Given the description of an element on the screen output the (x, y) to click on. 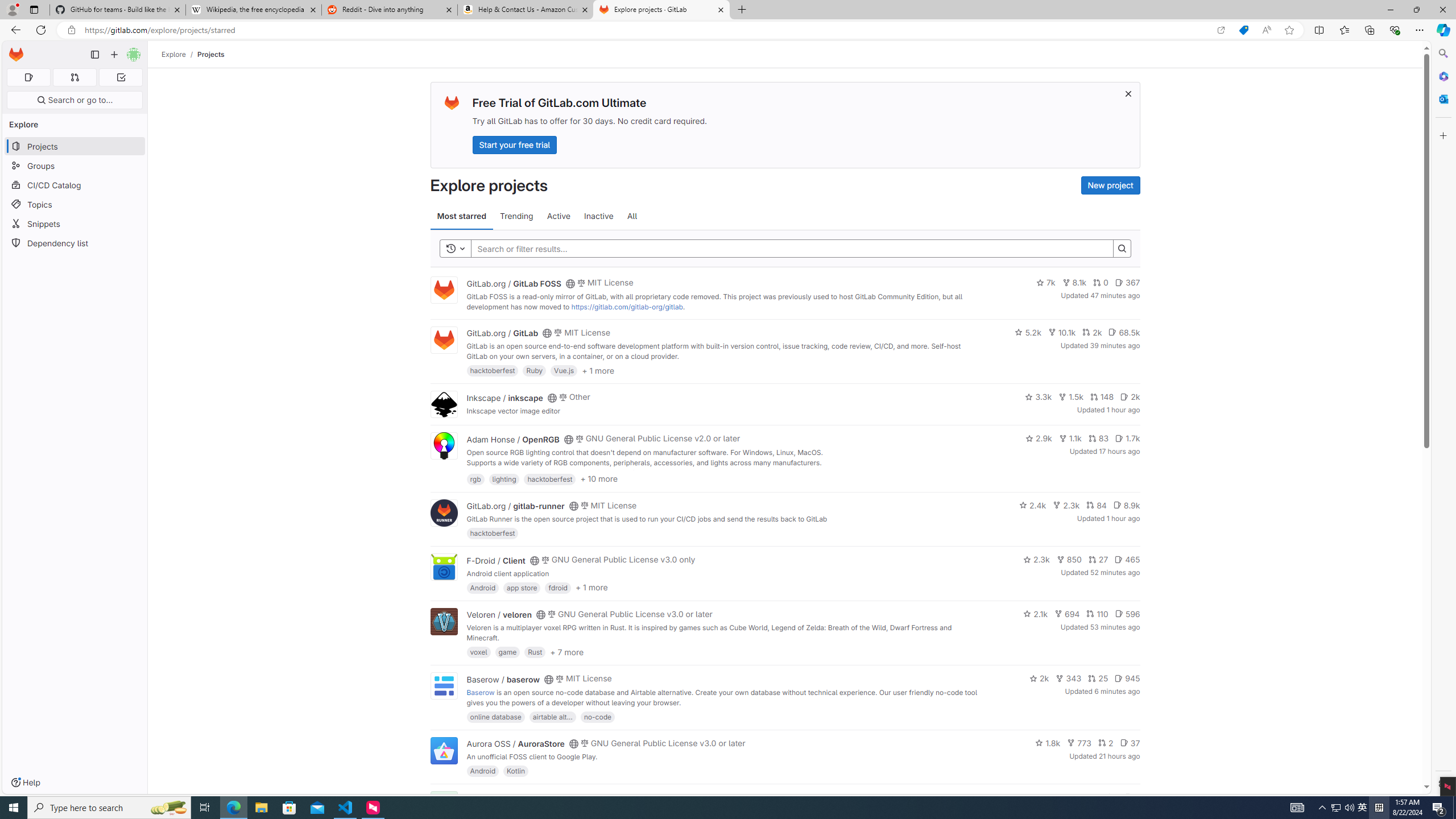
110 (1097, 613)
Groups (74, 165)
Reddit - Dive into anything (390, 9)
8.1k (1073, 282)
Snippets (74, 223)
2.4k (1032, 504)
37 (1129, 742)
Android (482, 770)
fdroid (558, 587)
68.5k (1124, 331)
Class: s16 (568, 798)
